Given the description of an element on the screen output the (x, y) to click on. 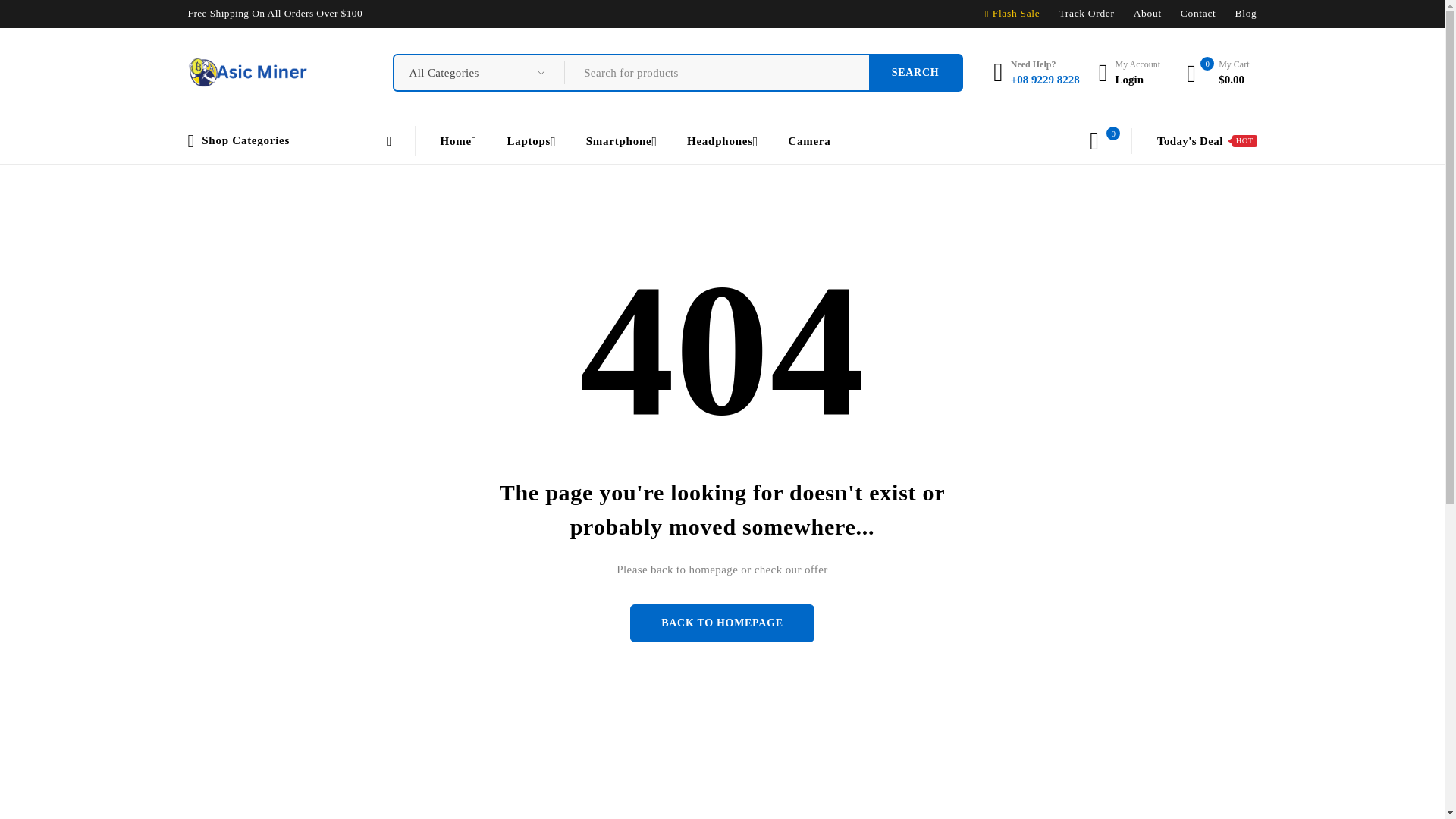
Search (915, 72)
Flash Sale (1016, 13)
Contact (1128, 71)
Blog (1197, 13)
About (1245, 13)
Search (1147, 13)
Ecomall (915, 72)
Track Order (247, 72)
Wishlist (1085, 13)
